Given the description of an element on the screen output the (x, y) to click on. 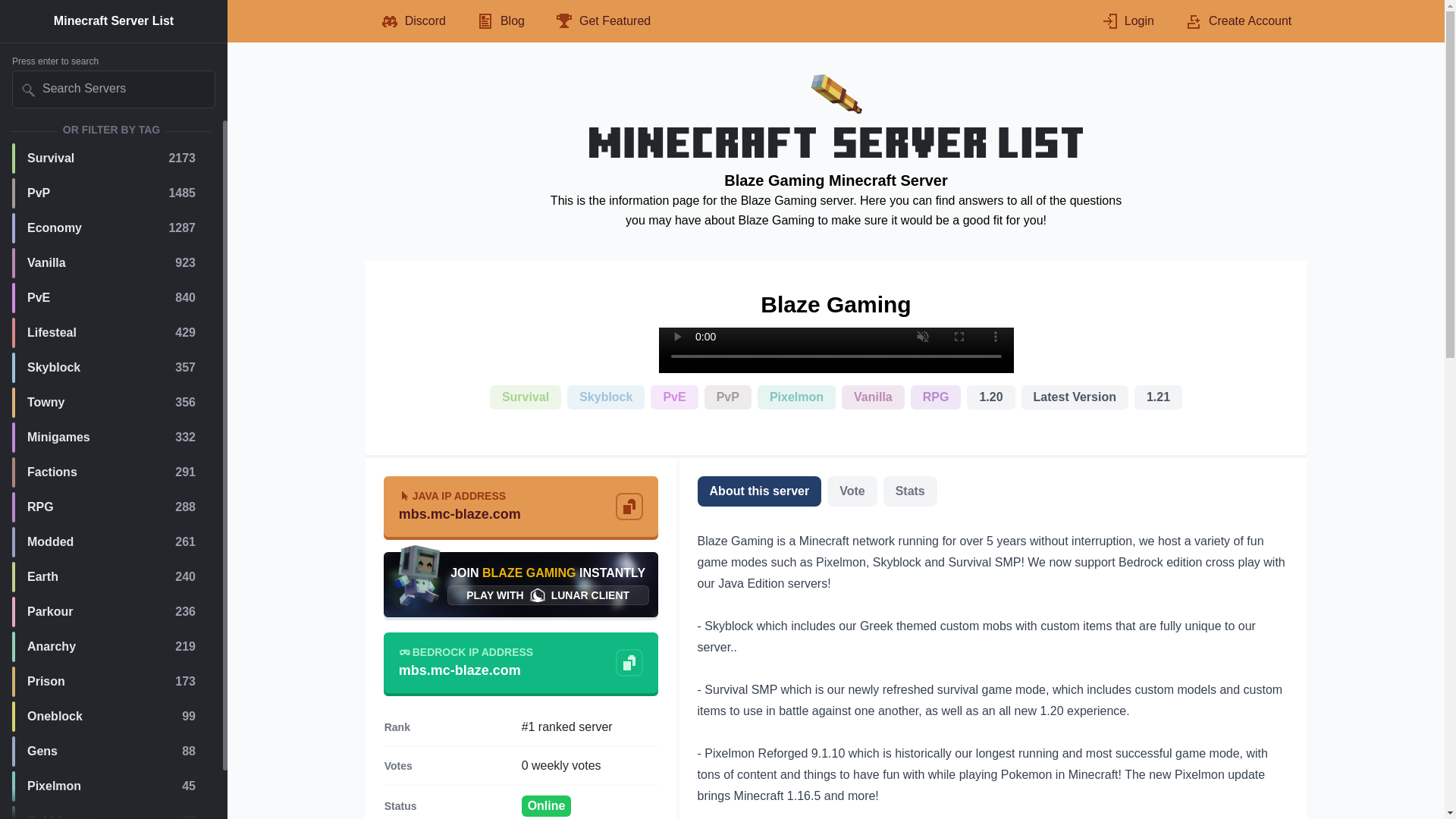
Blog (500, 21)
Create Account (1237, 21)
mbs.mc-blaze.com (111, 158)
Latest Version (111, 716)
RPG (111, 297)
